Given the description of an element on the screen output the (x, y) to click on. 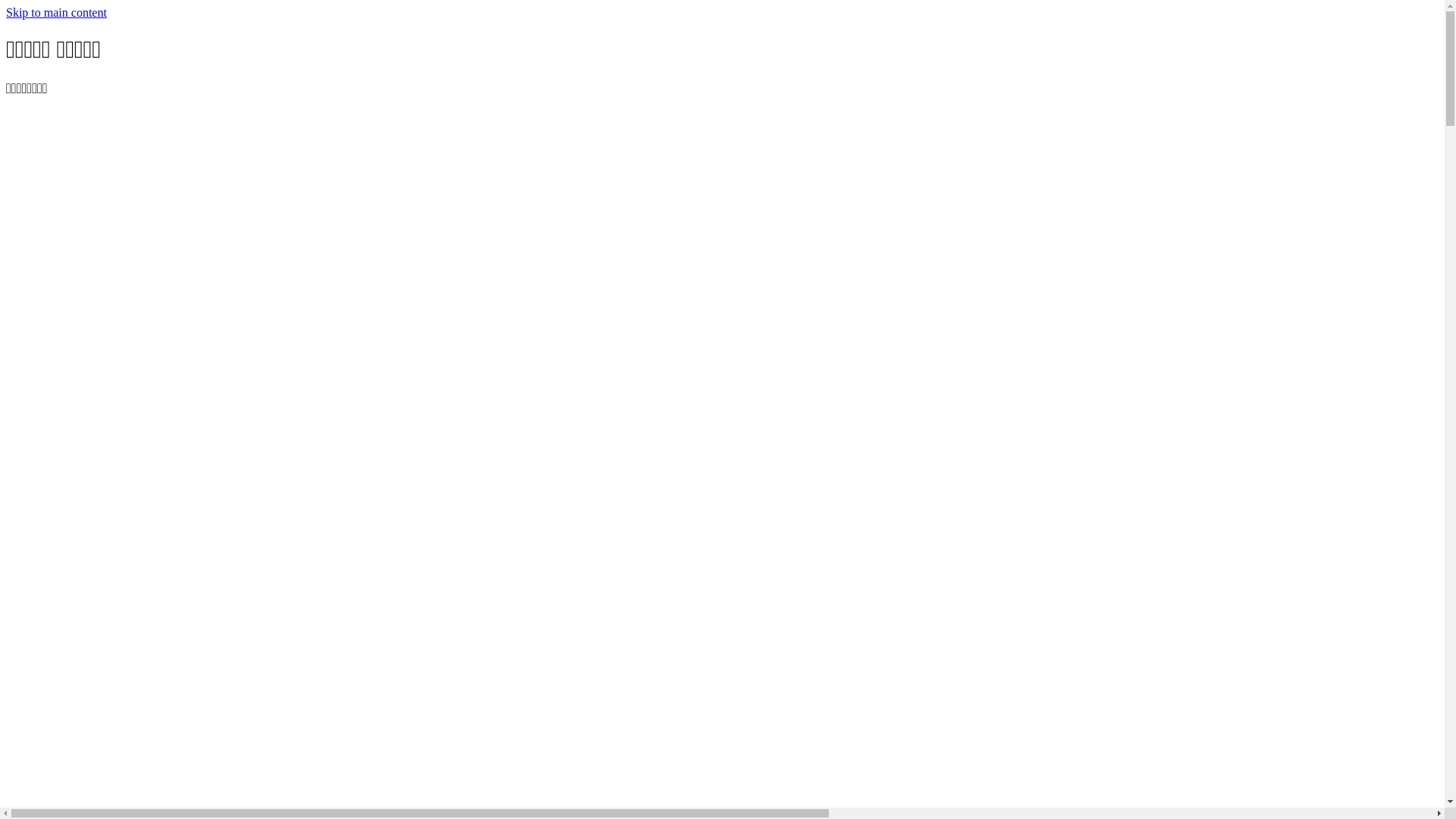
Skip to main content Element type: text (56, 12)
